Given the description of an element on the screen output the (x, y) to click on. 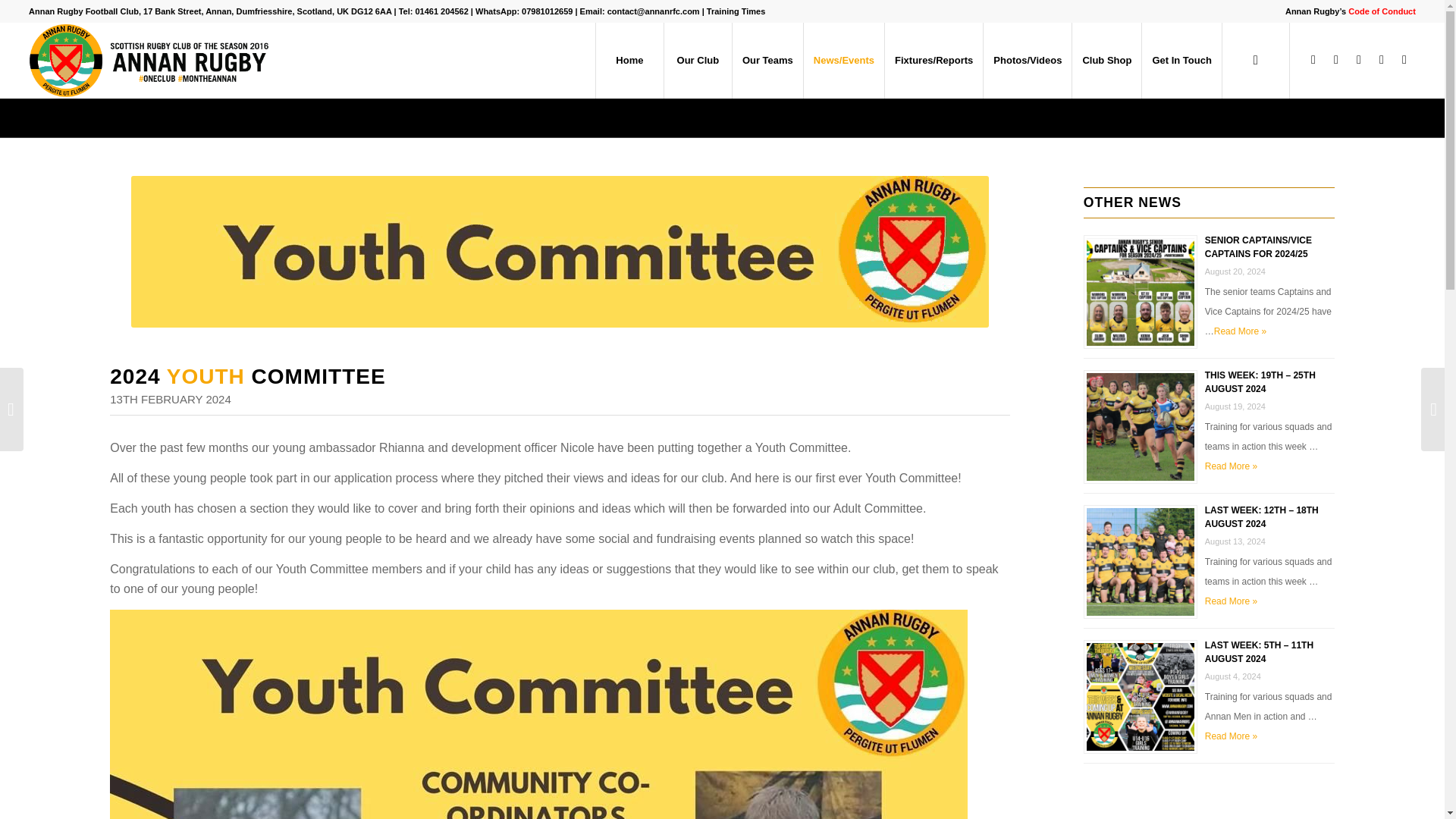
Home (629, 60)
Facebook (1312, 59)
youthcom24 (559, 251)
07981012659 (546, 10)
Flickr (1359, 59)
Mail (1404, 59)
Training Times (735, 10)
Our Club (697, 60)
Vimeo (1381, 59)
Our Teams (767, 60)
